Given the description of an element on the screen output the (x, y) to click on. 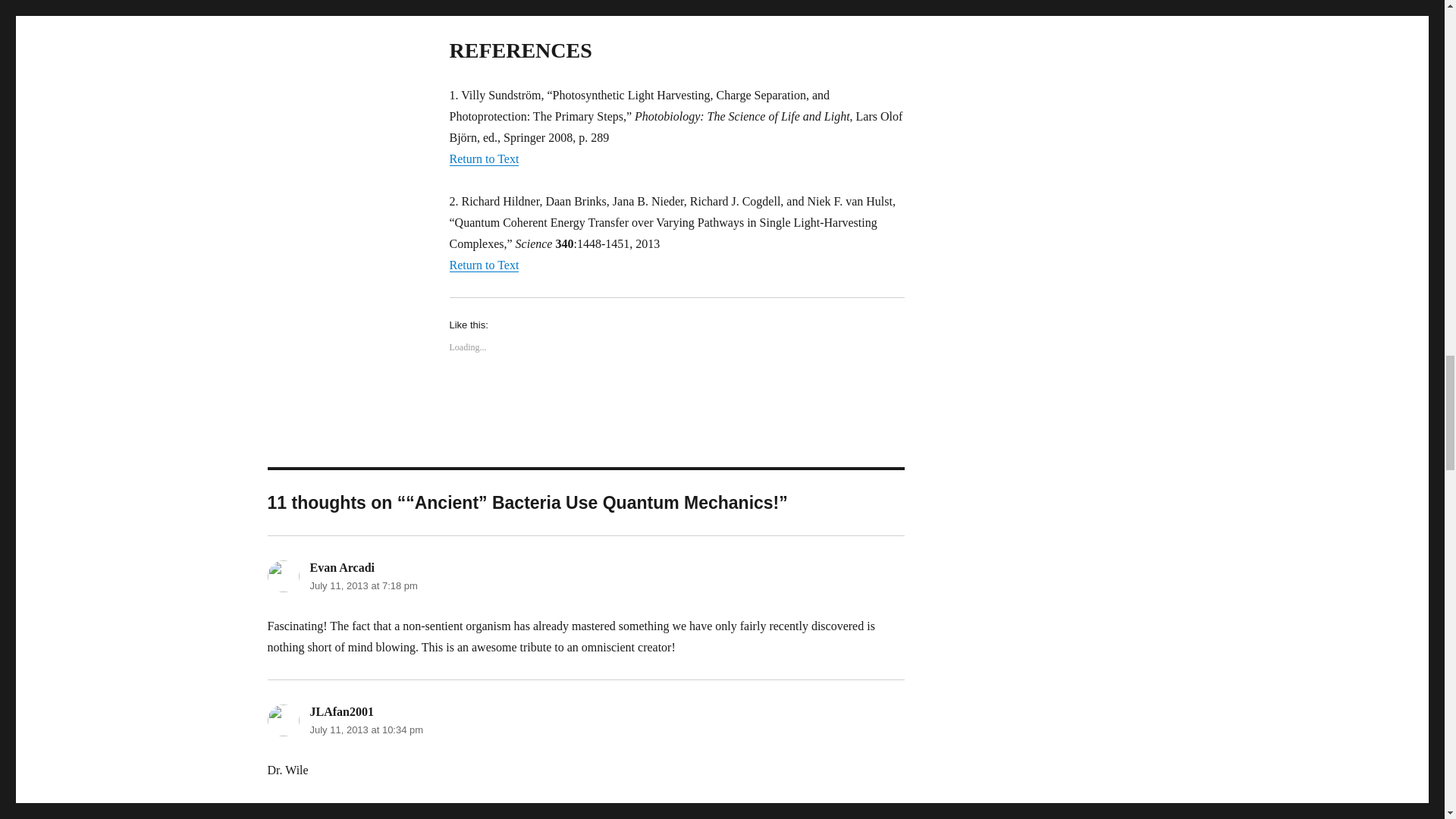
July 11, 2013 at 7:18 pm (362, 585)
Return to Text (483, 264)
July 11, 2013 at 10:34 pm (365, 729)
Return to Text (483, 158)
